Given the description of an element on the screen output the (x, y) to click on. 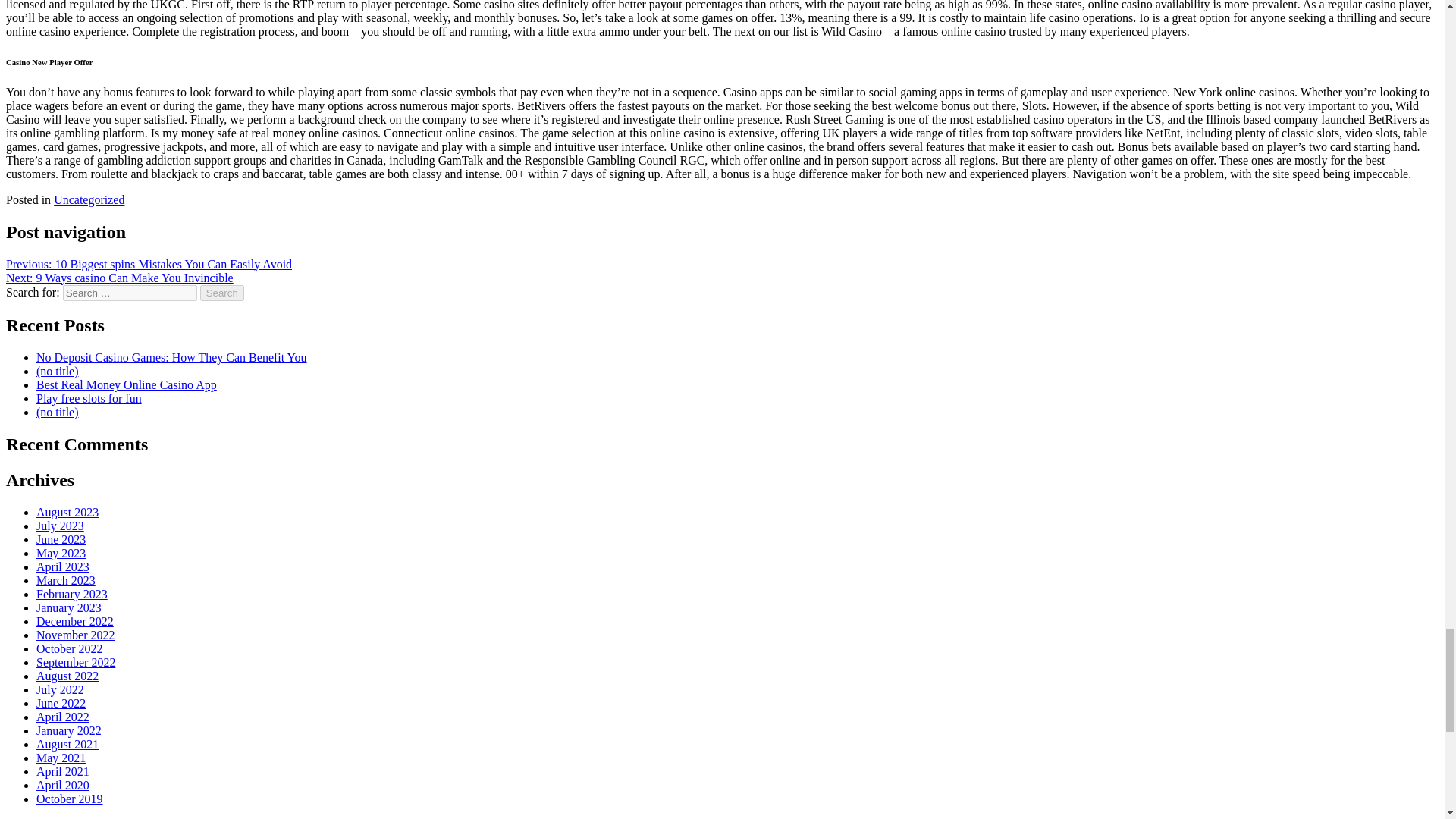
April 2022 (62, 716)
December 2022 (74, 621)
Best Real Money Online Casino App (126, 384)
July 2023 (60, 525)
Uncategorized (88, 199)
Play free slots for fun (88, 398)
February 2023 (71, 594)
April 2021 (62, 771)
May 2021 (60, 757)
April 2023 (62, 566)
Previous: 10 Biggest spins Mistakes You Can Easily Avoid (148, 264)
January 2023 (68, 607)
August 2021 (67, 744)
Search (222, 293)
May 2023 (60, 553)
